Given the description of an element on the screen output the (x, y) to click on. 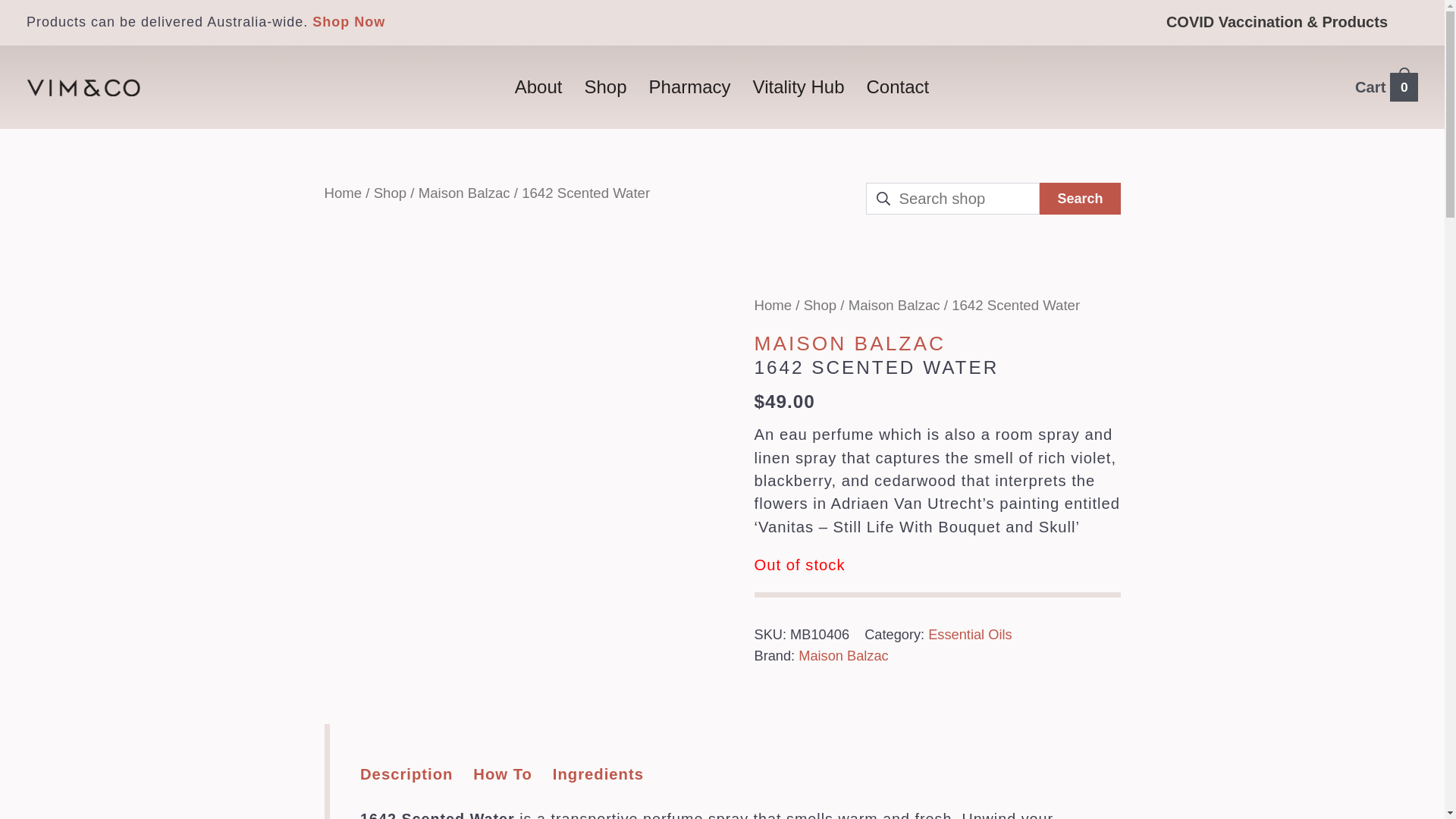
Shop Now (349, 21)
Search (1079, 198)
About (538, 86)
Shop (605, 86)
Search (1079, 198)
Search for: (952, 198)
